Given the description of an element on the screen output the (x, y) to click on. 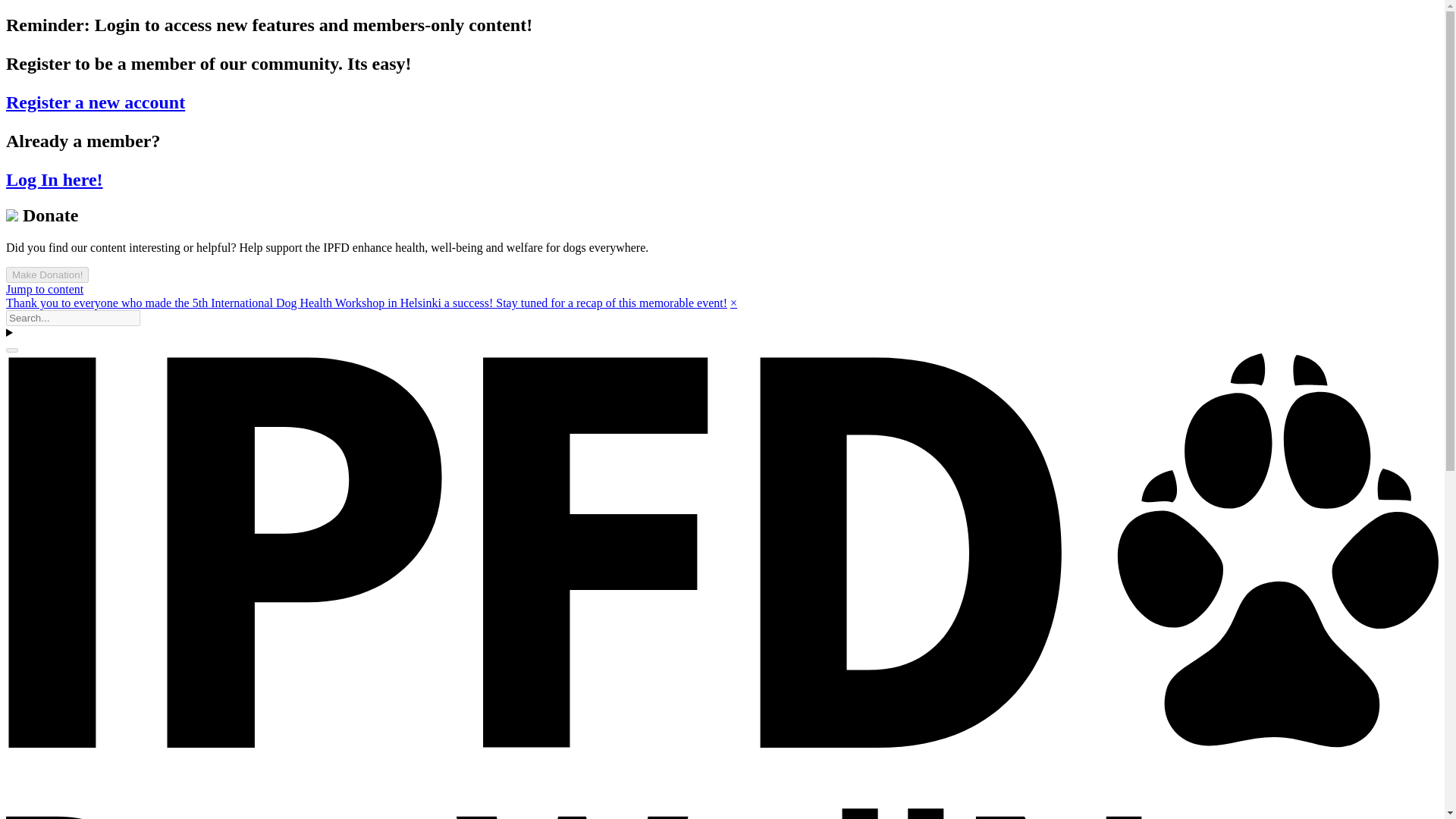
Make Donation! (46, 274)
Register a new account (94, 102)
Log In here! (54, 179)
Go to main content on this page (43, 288)
Jump to content (43, 288)
